Given the description of an element on the screen output the (x, y) to click on. 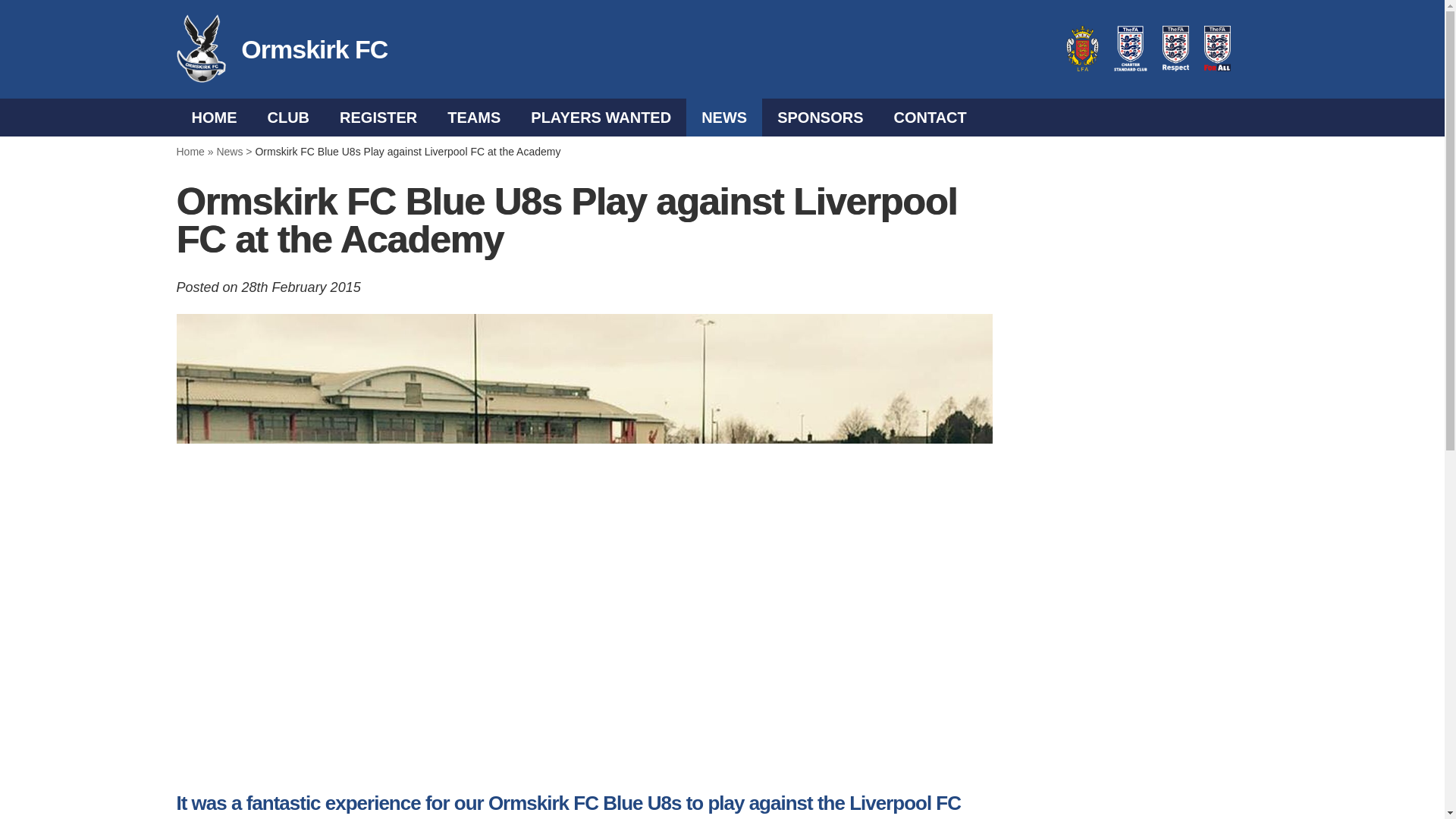
SPONSORS (819, 117)
TEAMS (473, 117)
News (229, 151)
REGISTER (378, 117)
Ormskirk FC (200, 49)
HOME (213, 117)
NEWS (723, 117)
Home (189, 151)
PLAYERS WANTED (600, 117)
Ormskirk FC (306, 49)
CONTACT (929, 117)
CLUB (287, 117)
